Given the description of an element on the screen output the (x, y) to click on. 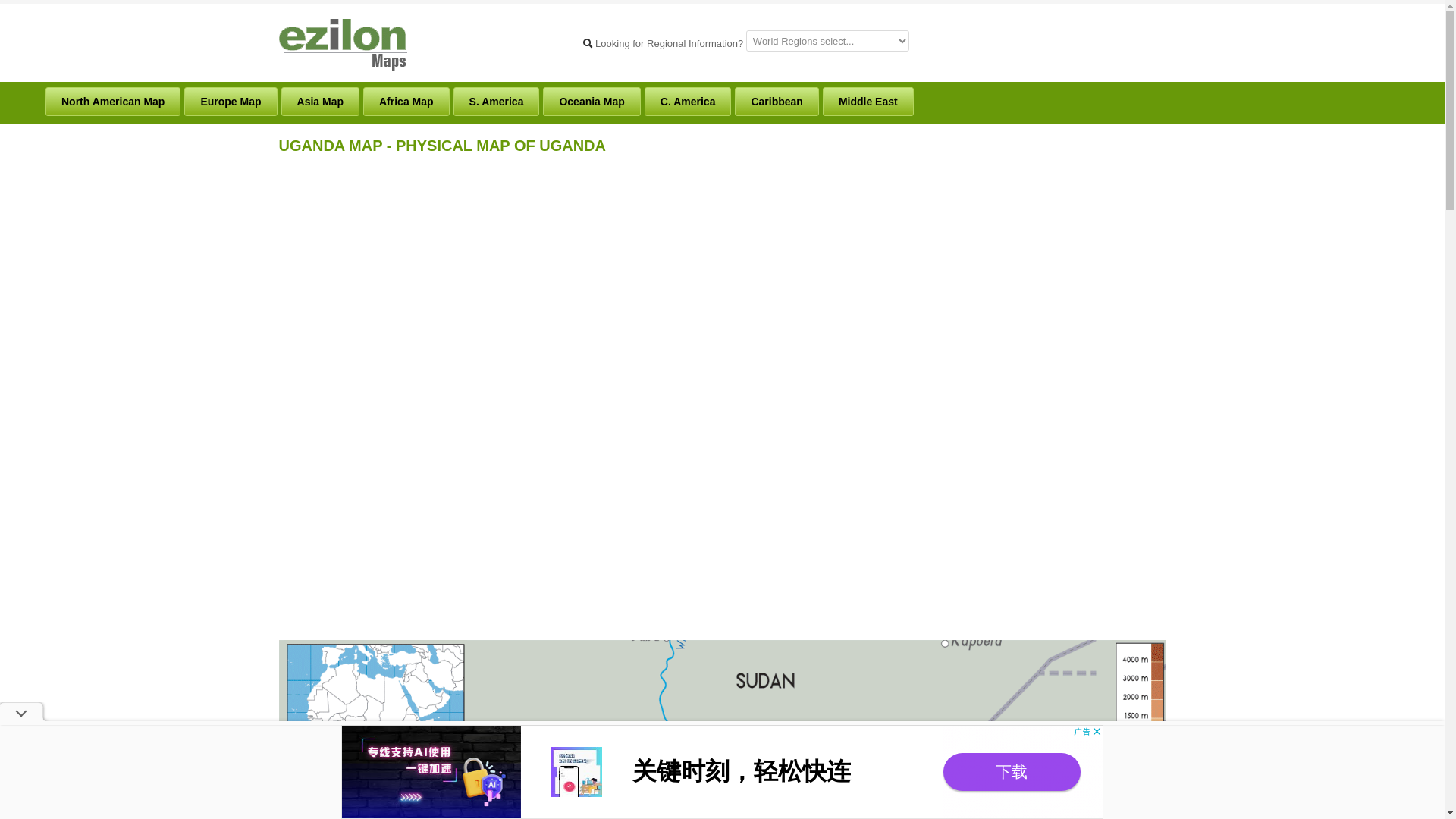
Europe Map (230, 101)
Asia Map (320, 101)
S. America (496, 101)
C. America (688, 101)
North American Map (112, 101)
Caribbean (776, 101)
Africa Map (405, 101)
Oceania Map (591, 101)
Middle East (868, 101)
Search (587, 43)
ezilon Maps (343, 43)
